Given the description of an element on the screen output the (x, y) to click on. 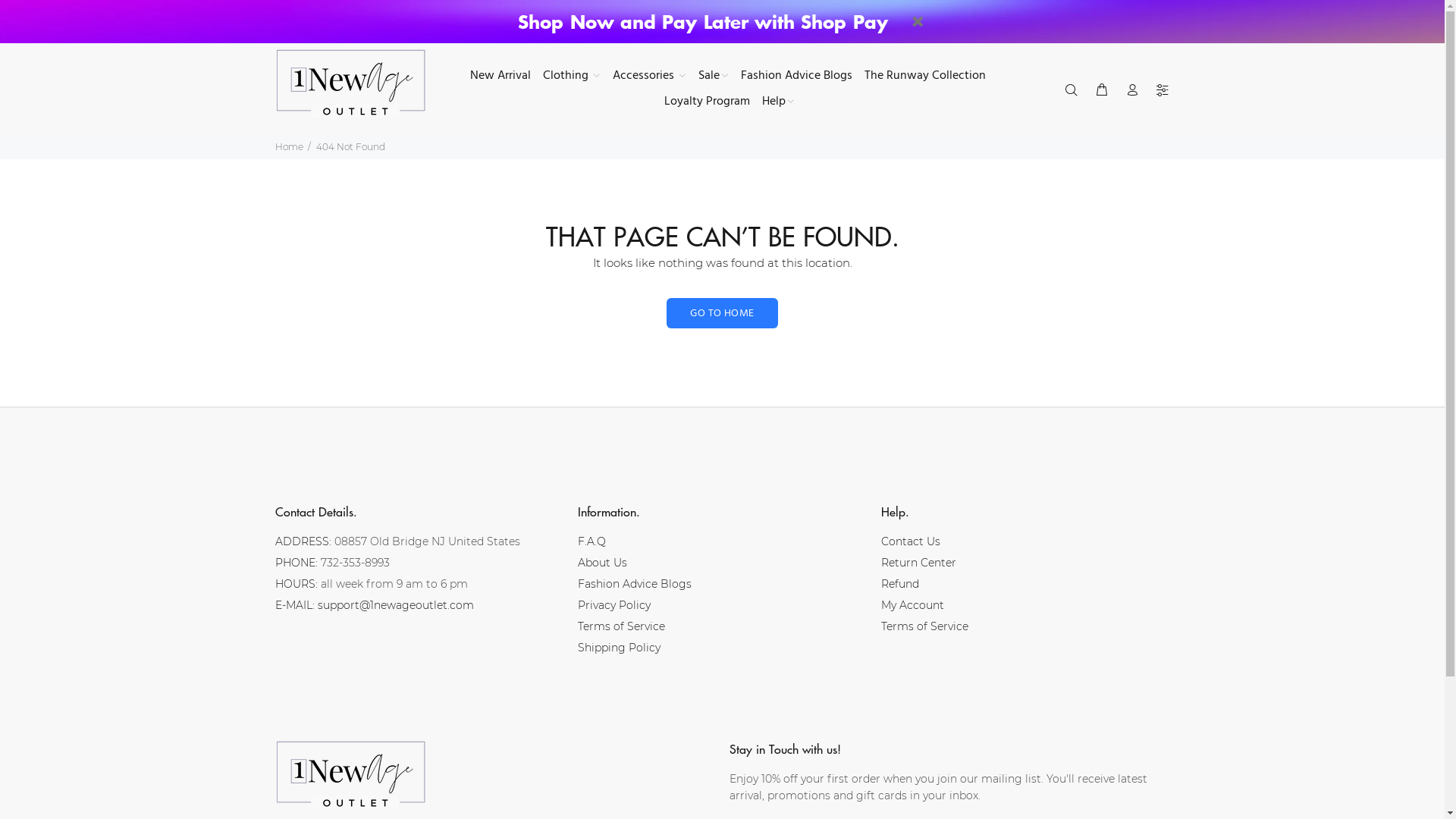
support@1newageoutlet.com Element type: text (394, 604)
Clothing Element type: text (571, 76)
New Arrival Element type: text (498, 76)
Return Center Element type: text (918, 562)
Shipping Policy Element type: text (618, 647)
Loyalty Program Element type: text (707, 102)
Terms of Service Element type: text (924, 626)
Refund Element type: text (900, 583)
My Account Element type: text (912, 604)
About Us Element type: text (602, 562)
GO TO HOME Element type: text (721, 313)
The Runway Collection Element type: text (924, 76)
Fashion Advice Blogs Element type: text (634, 583)
Terms of Service Element type: text (621, 626)
Fashion Advice Blogs Element type: text (796, 76)
Accessories Element type: text (649, 76)
Sale Element type: text (713, 76)
F.A.Q Element type: text (591, 541)
Help Element type: text (775, 102)
Contact Us Element type: text (910, 541)
Privacy Policy Element type: text (613, 604)
Home Element type: text (288, 146)
